Given the description of an element on the screen output the (x, y) to click on. 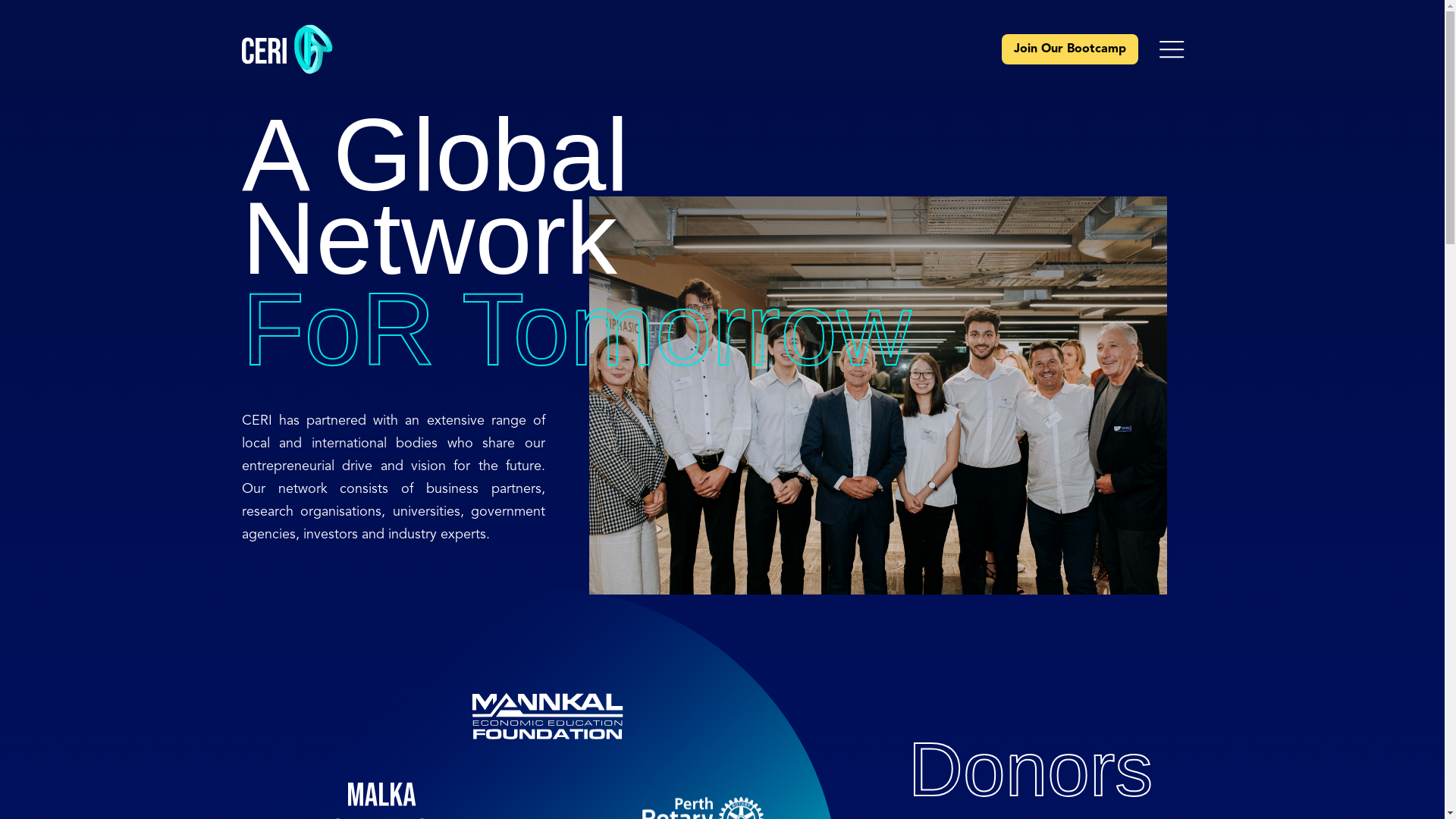
Join Our Bootcamp Element type: text (1069, 49)
